Given the description of an element on the screen output the (x, y) to click on. 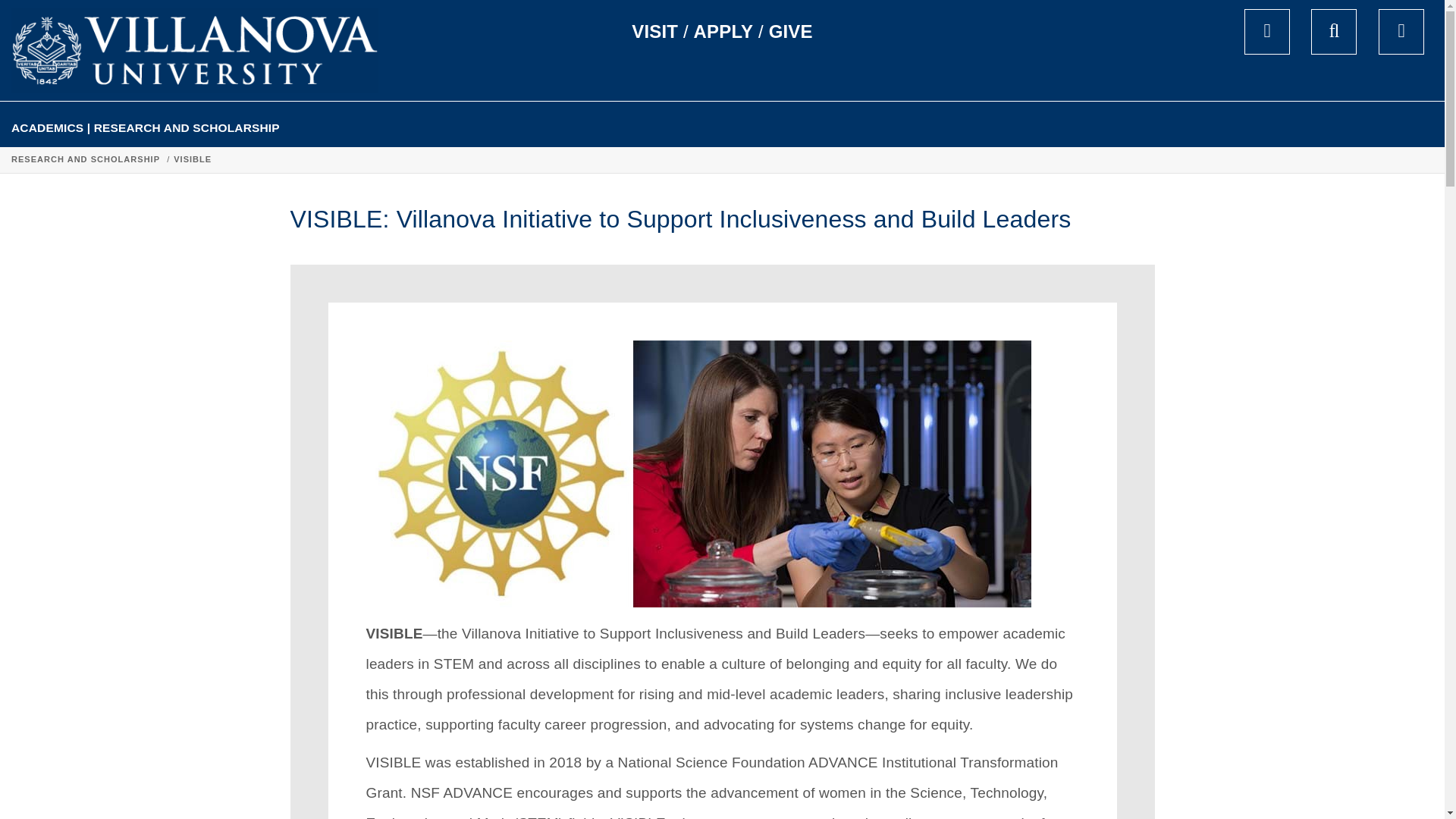
APPLY (724, 31)
GIVE (790, 31)
VISIT (654, 31)
